Given the description of an element on the screen output the (x, y) to click on. 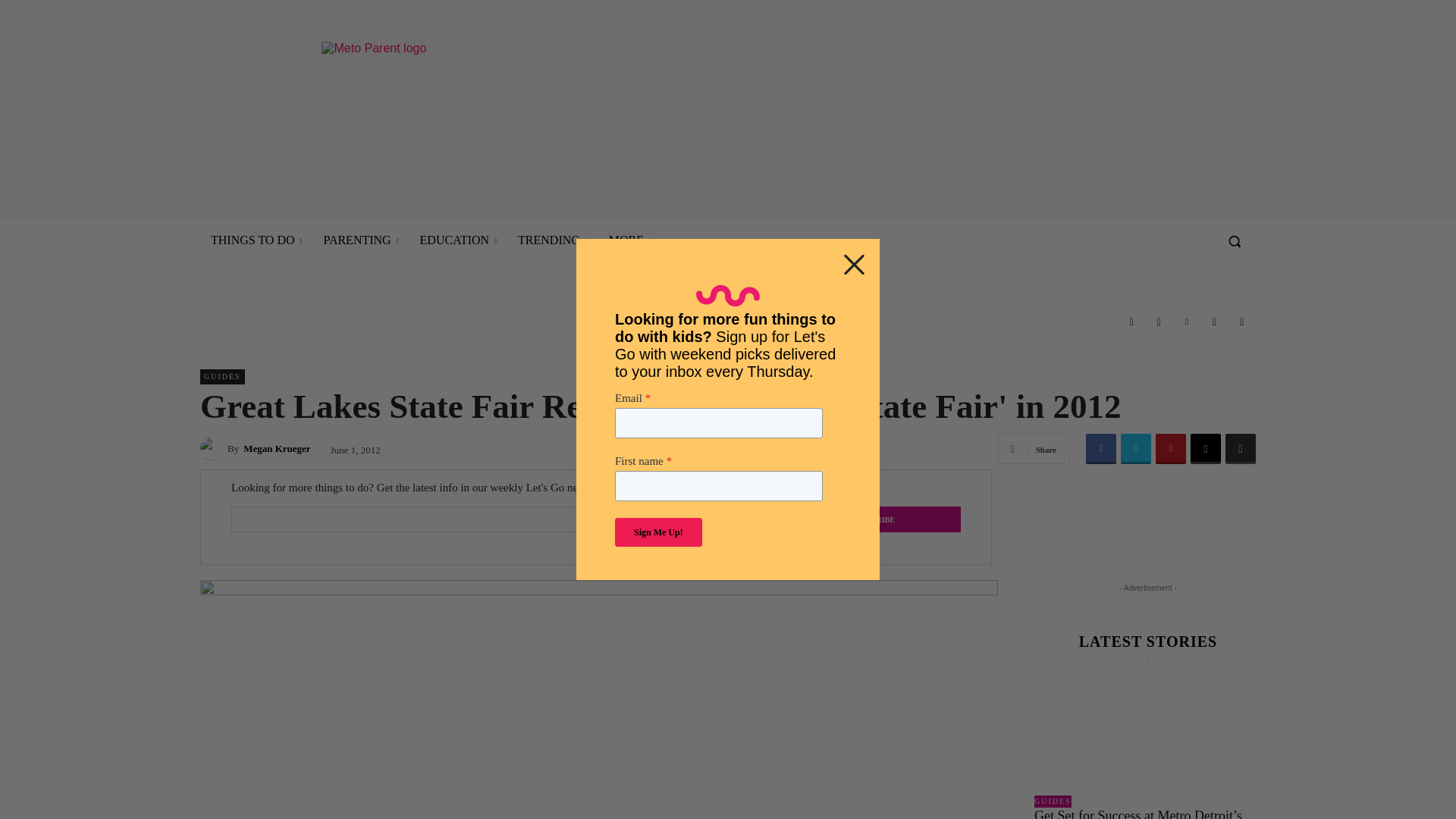
Pinterest (1186, 320)
Twitter (1213, 320)
Subscribe (873, 519)
Instagram (1158, 320)
Facebook (1131, 320)
Youtube (1241, 320)
